Given the description of an element on the screen output the (x, y) to click on. 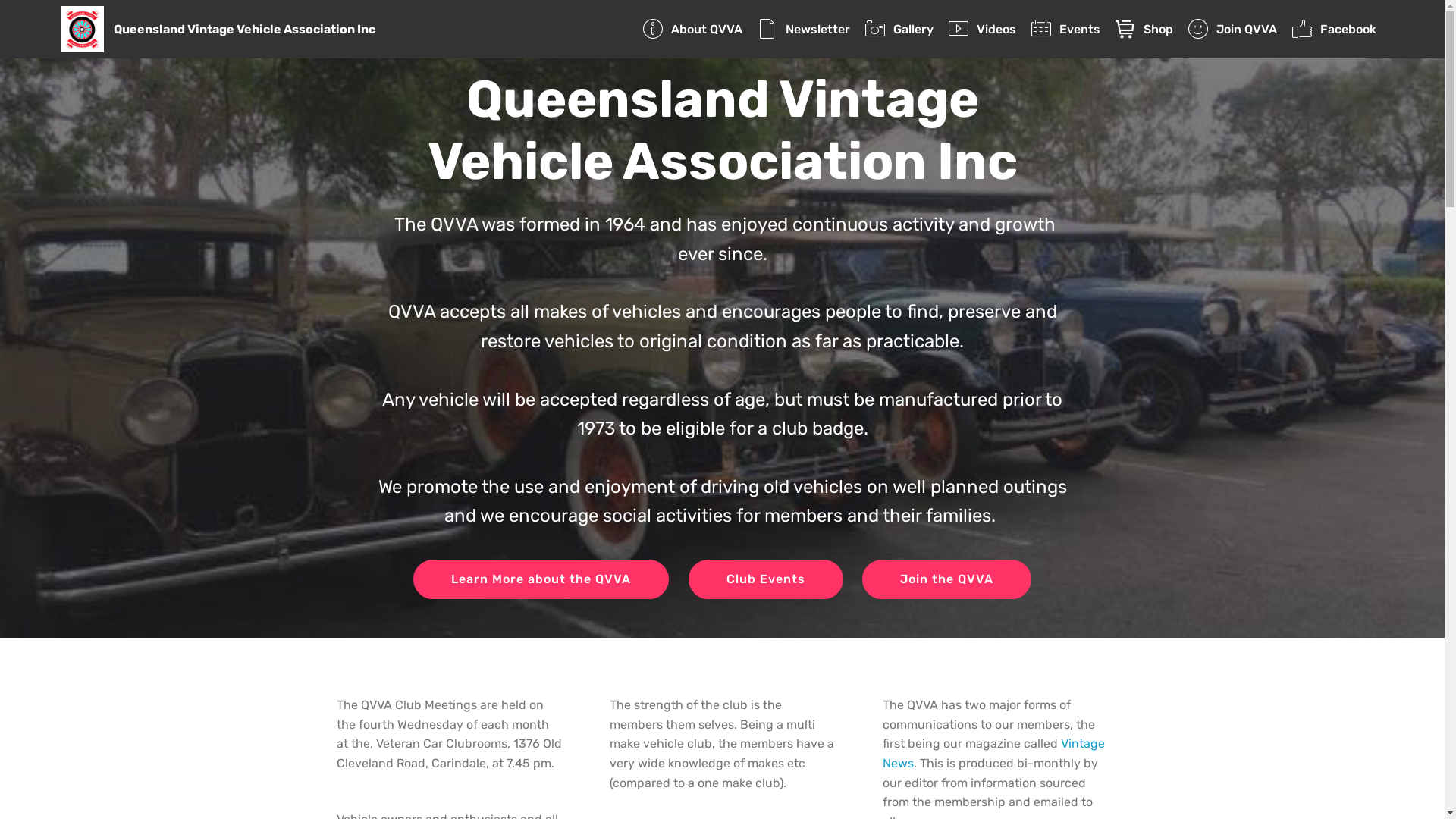
Join the QVVA Element type: text (946, 579)
Join QVVA Element type: text (1232, 28)
Queensland Vintage Vehicle Association Inc Element type: text (256, 28)
About QVVA Element type: text (692, 28)
Newsletter Element type: text (803, 28)
Vintage News Element type: text (993, 753)
Facebook Element type: text (1333, 28)
Learn More about the QVVA Element type: text (540, 579)
Club Events Element type: text (765, 579)
Events Element type: text (1065, 28)
Gallery Element type: text (898, 28)
Videos Element type: text (981, 28)
Shop Element type: text (1143, 28)
